Given the description of an element on the screen output the (x, y) to click on. 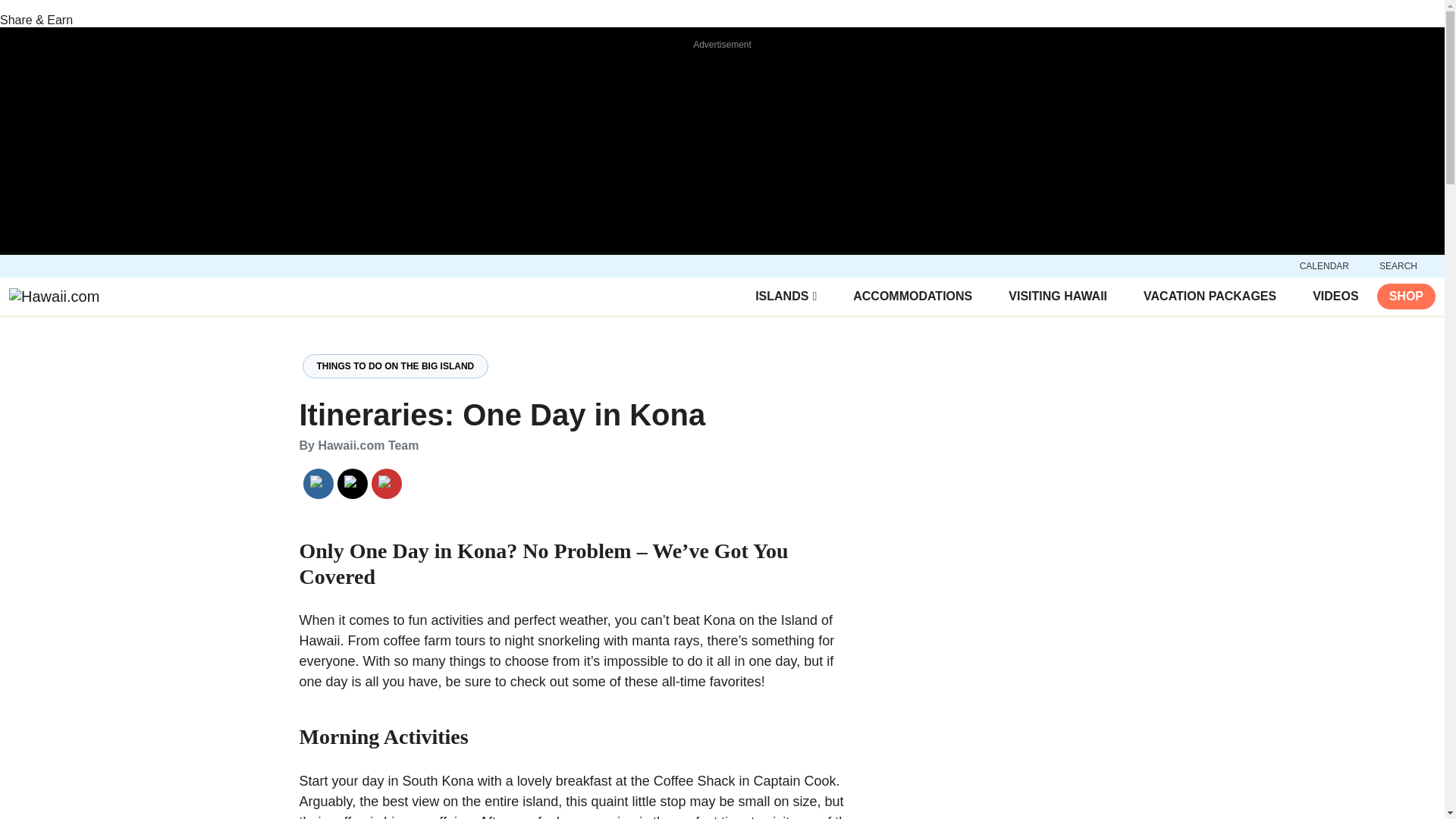
ISLANDS (785, 296)
Vacation Packages (1209, 296)
Accommodations (912, 296)
Hawaii.com (53, 296)
VISITING HAWAII (1058, 296)
Calendar (1324, 265)
Search (1398, 265)
ACCOMMODATIONS (912, 296)
Videos (1335, 296)
Facebook (317, 483)
Twitter (352, 483)
Islands (785, 296)
VIDEOS (1335, 296)
SEARCH (1398, 265)
THINGS TO DO ON THE BIG ISLAND (394, 365)
